Given the description of an element on the screen output the (x, y) to click on. 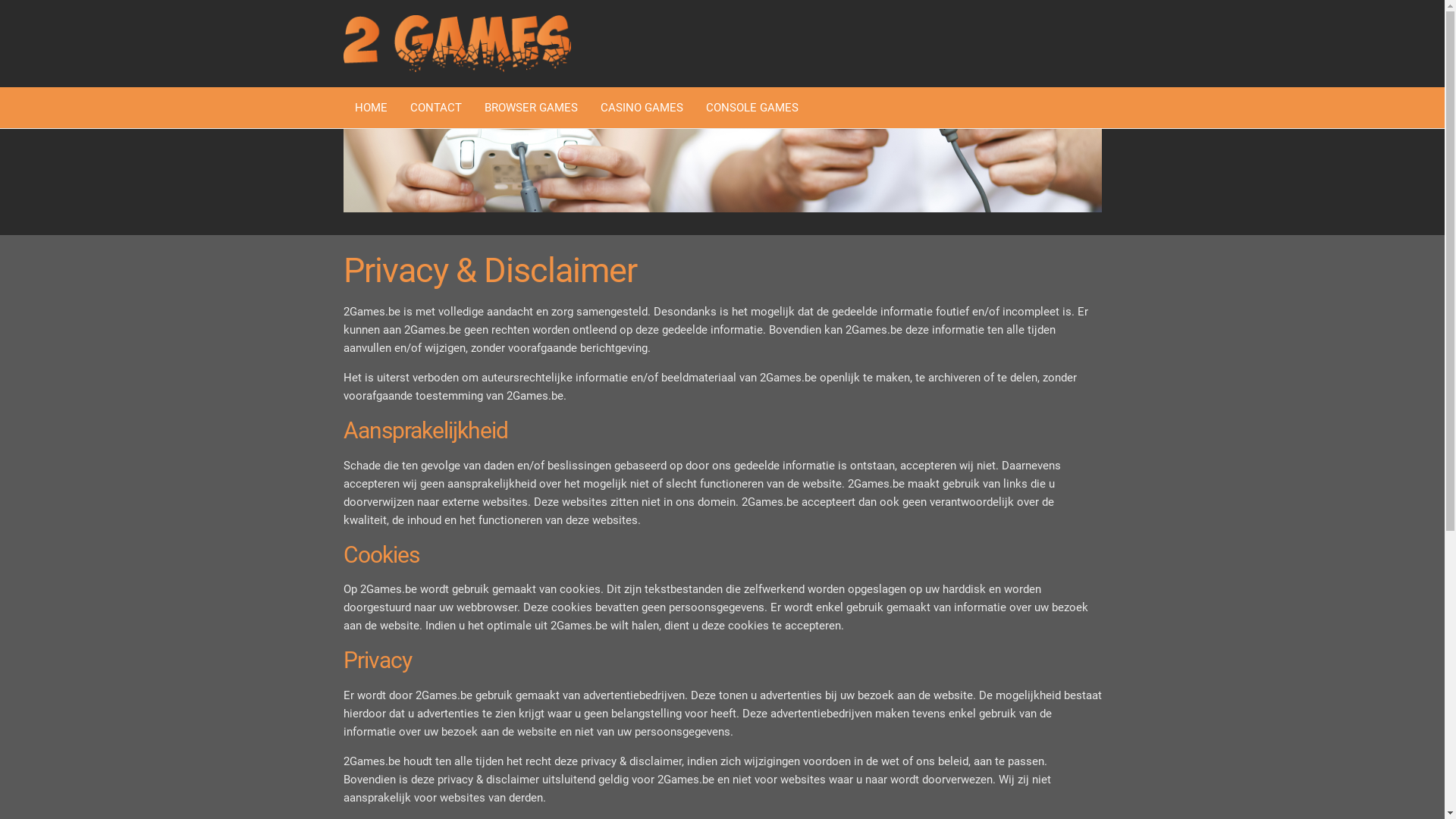
HOME Element type: text (370, 107)
CONSOLE GAMES Element type: text (751, 107)
CASINO GAMES Element type: text (640, 107)
BROWSER GAMES Element type: text (531, 107)
CONTACT Element type: text (435, 107)
